Given the description of an element on the screen output the (x, y) to click on. 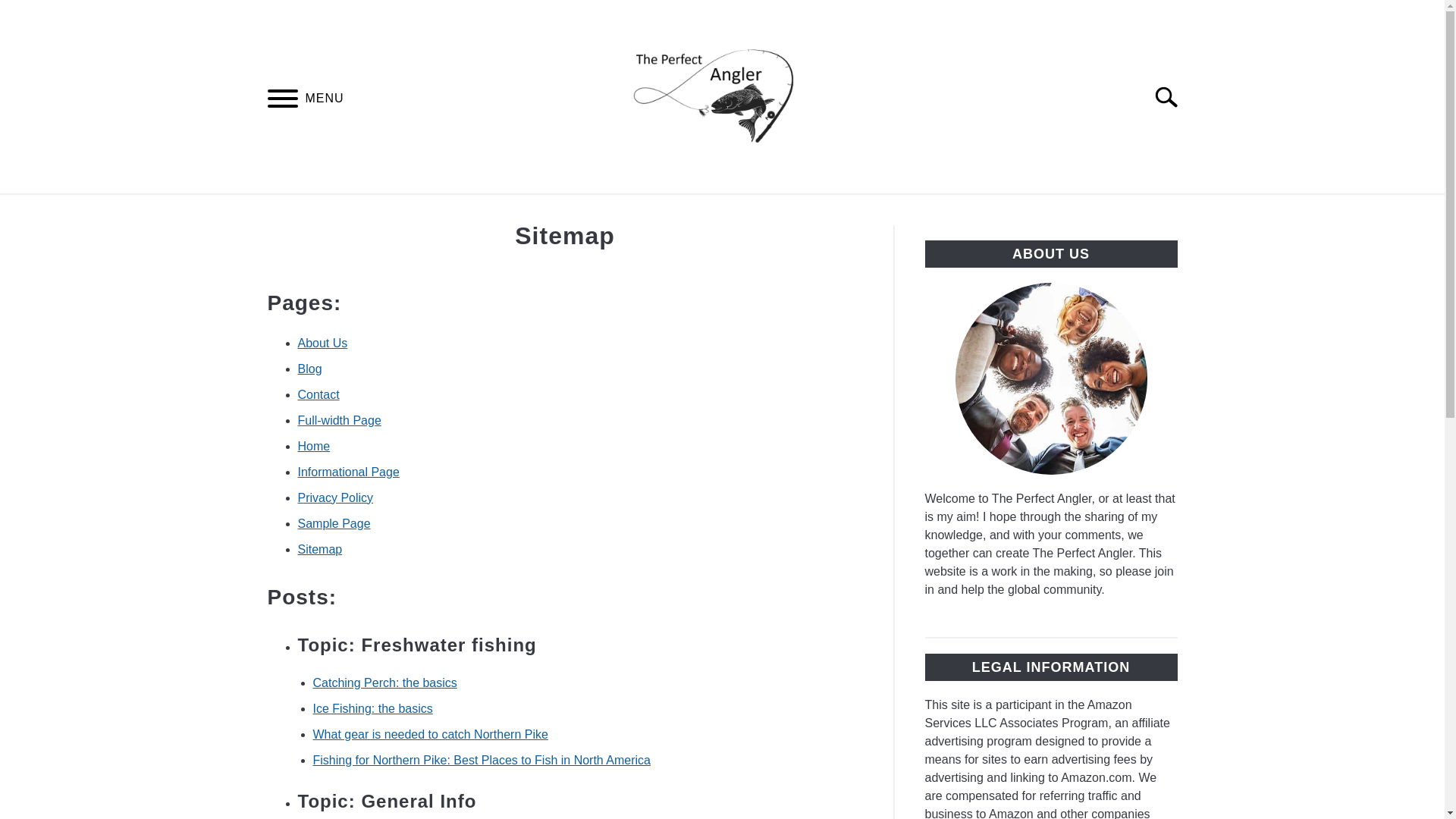
Search (1172, 96)
About Us (322, 342)
Home (313, 445)
Sitemap (319, 549)
Full-width Page (338, 420)
MENU (282, 100)
Catching Perch: the basics (385, 682)
Contact (318, 394)
Catching Perch: the basics (385, 682)
Blog (309, 368)
Ice Fishing: the basics (372, 707)
Informational Page (347, 472)
What gear is needed to catch Northern Pike (430, 734)
